Given the description of an element on the screen output the (x, y) to click on. 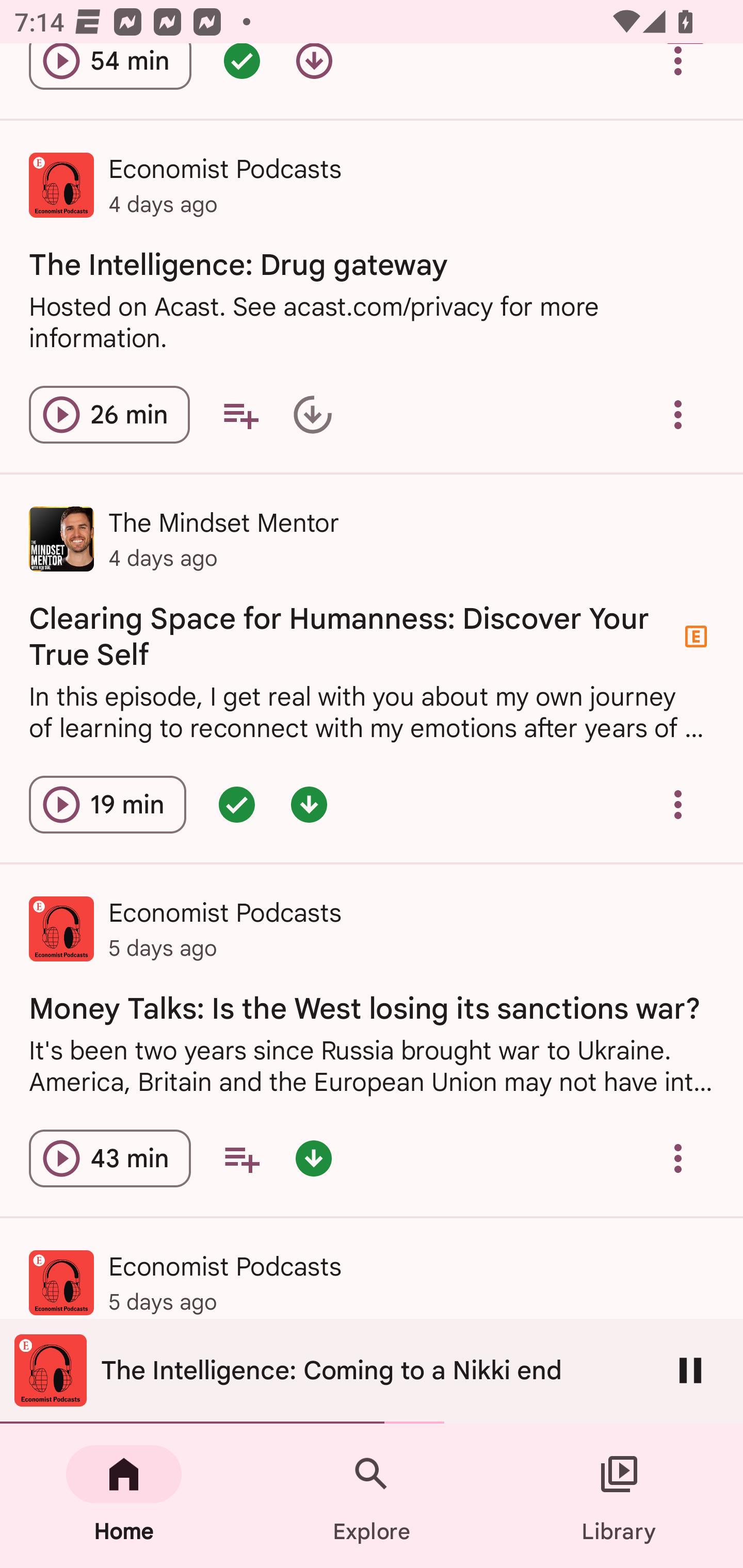
Episode queued - double tap for options (241, 73)
Download episode (313, 73)
Overflow menu (677, 73)
Play episode The Intelligence: Drug gateway 26 min (109, 414)
Add to your queue (240, 414)
Queued to download - double tap for options (312, 414)
Overflow menu (677, 414)
Episode queued - double tap for options (236, 805)
Episode downloaded - double tap for options (308, 805)
Overflow menu (677, 805)
Add to your queue (241, 1157)
Episode downloaded - double tap for options (313, 1157)
Overflow menu (677, 1157)
Pause (690, 1370)
Explore (371, 1495)
Library (619, 1495)
